Given the description of an element on the screen output the (x, y) to click on. 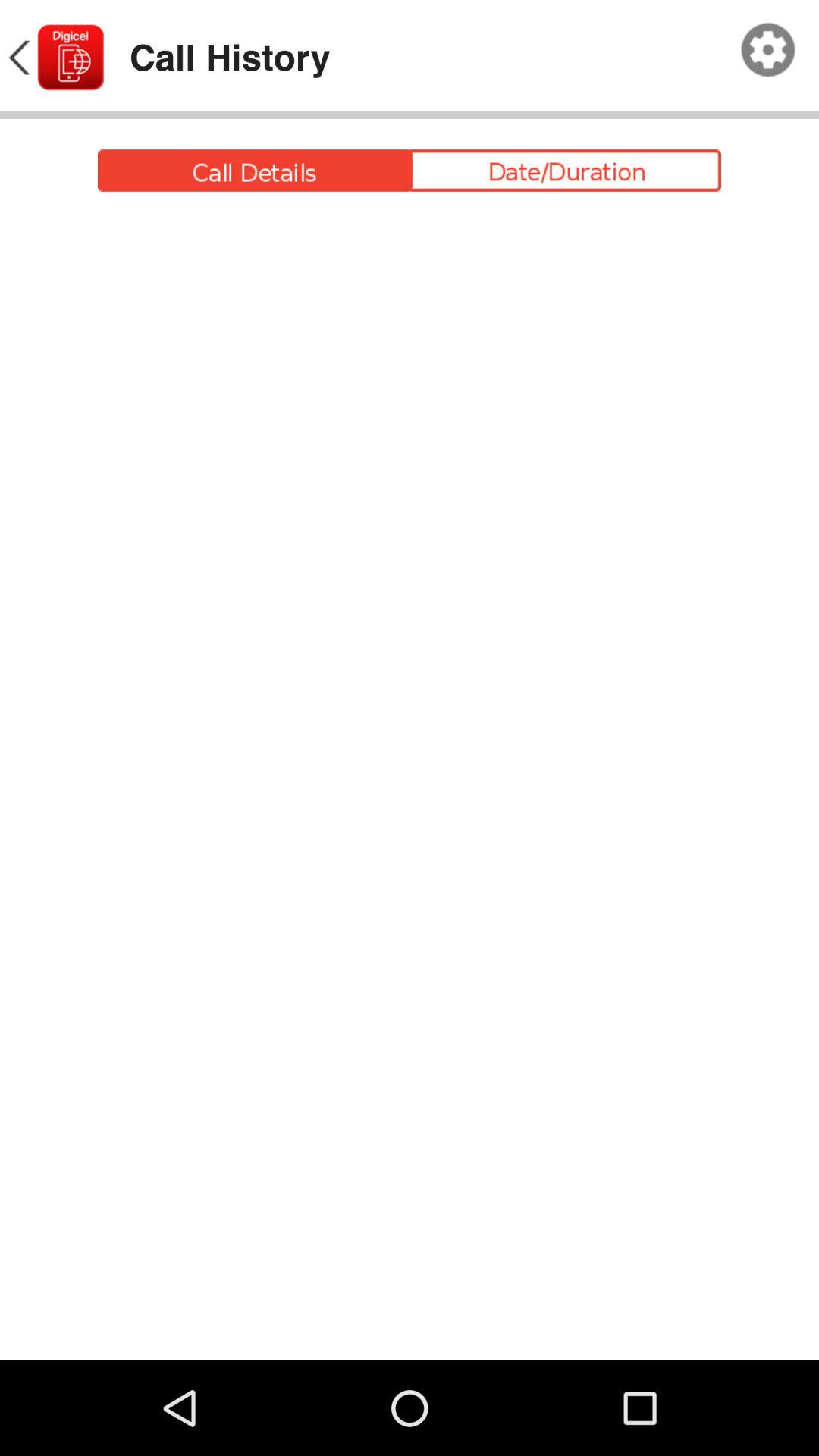
choose icon next to the call history item (54, 57)
